Given the description of an element on the screen output the (x, y) to click on. 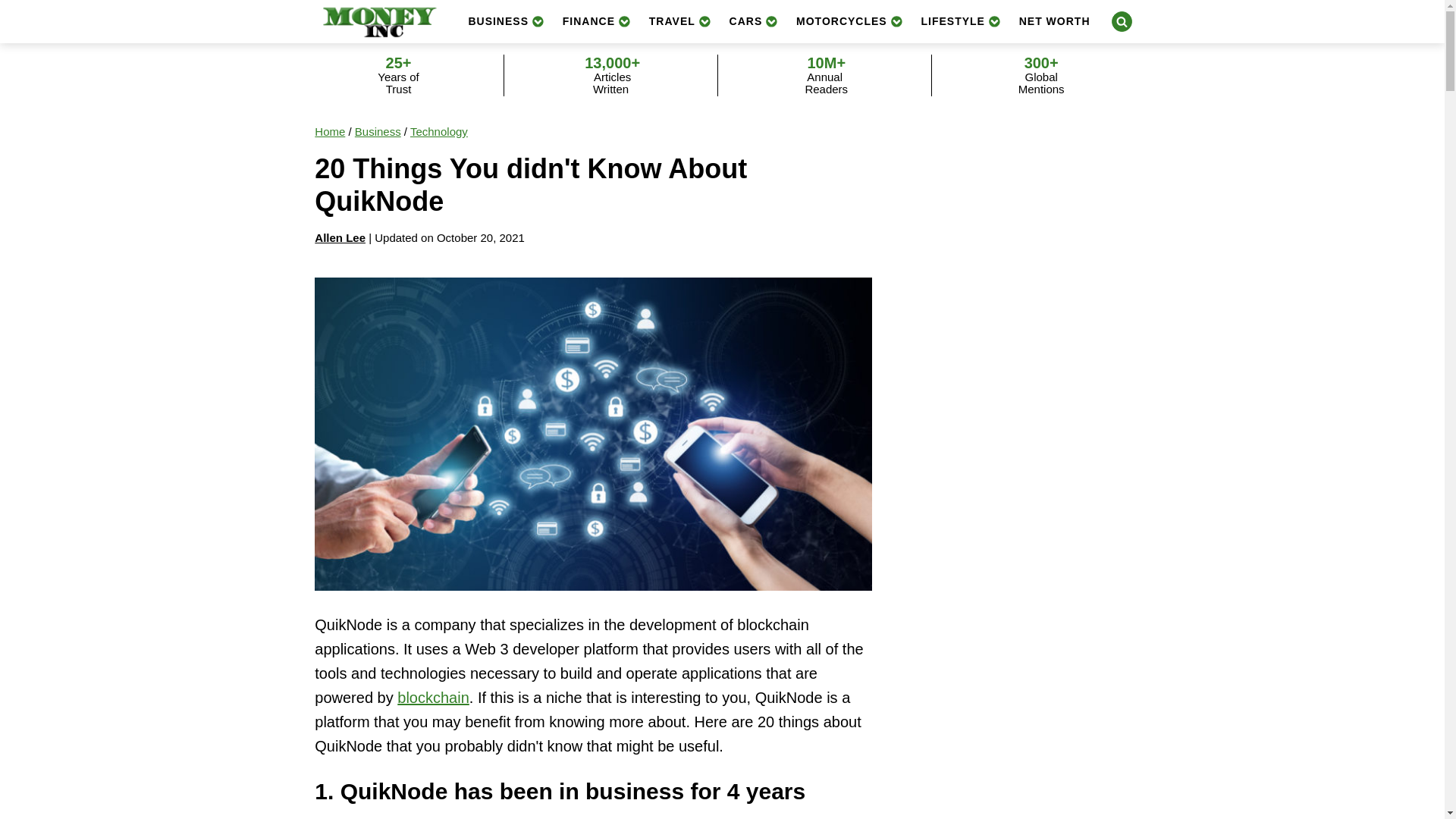
CARS (753, 21)
FINANCE (596, 21)
TRAVEL (680, 21)
BUSINESS (505, 21)
